Given the description of an element on the screen output the (x, y) to click on. 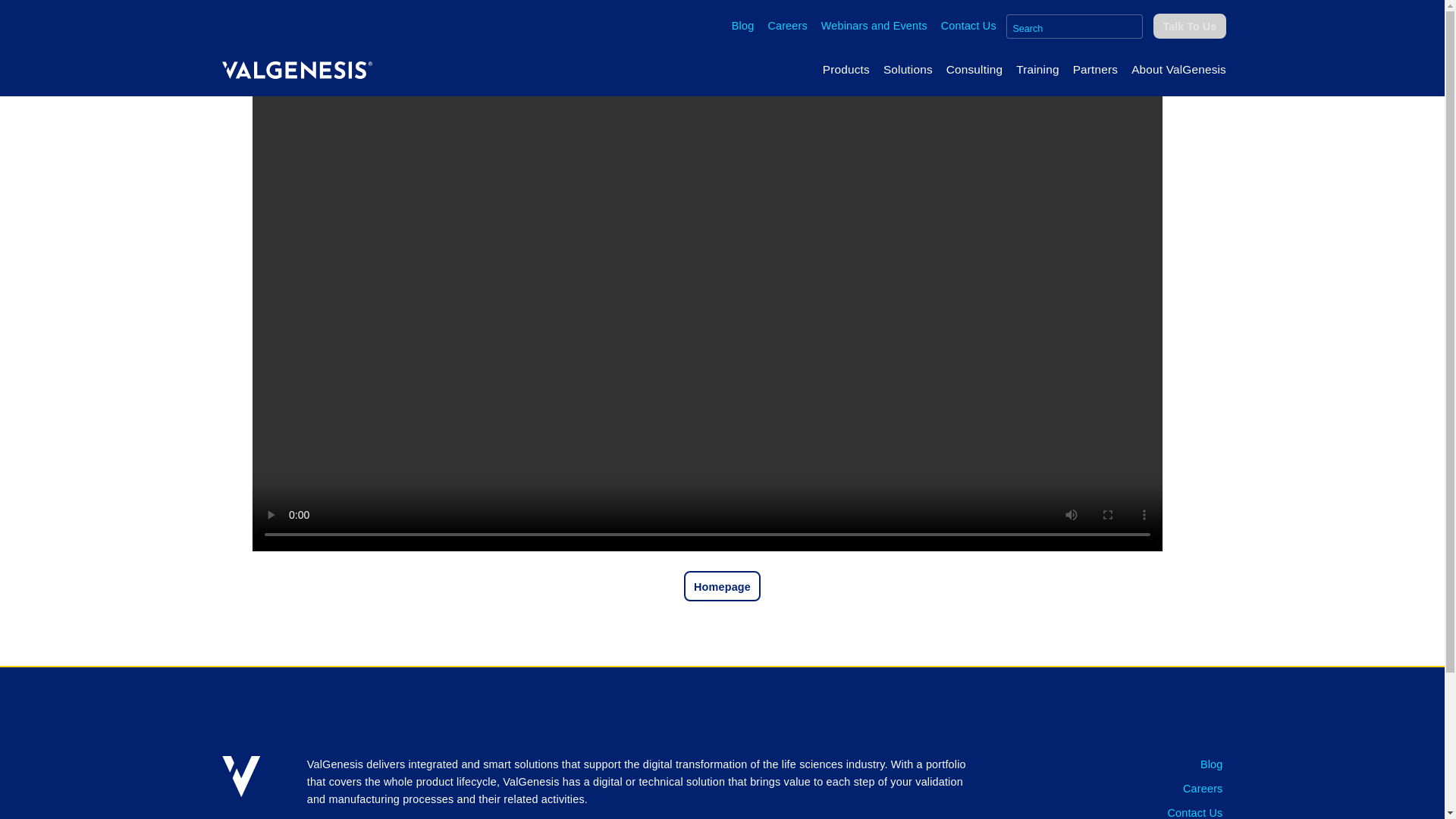
Talk To Us (1189, 25)
Solutions (907, 68)
Contact Us (968, 26)
Products (845, 68)
Blog (743, 26)
Careers (786, 26)
Webinars and Events (873, 26)
